Given the description of an element on the screen output the (x, y) to click on. 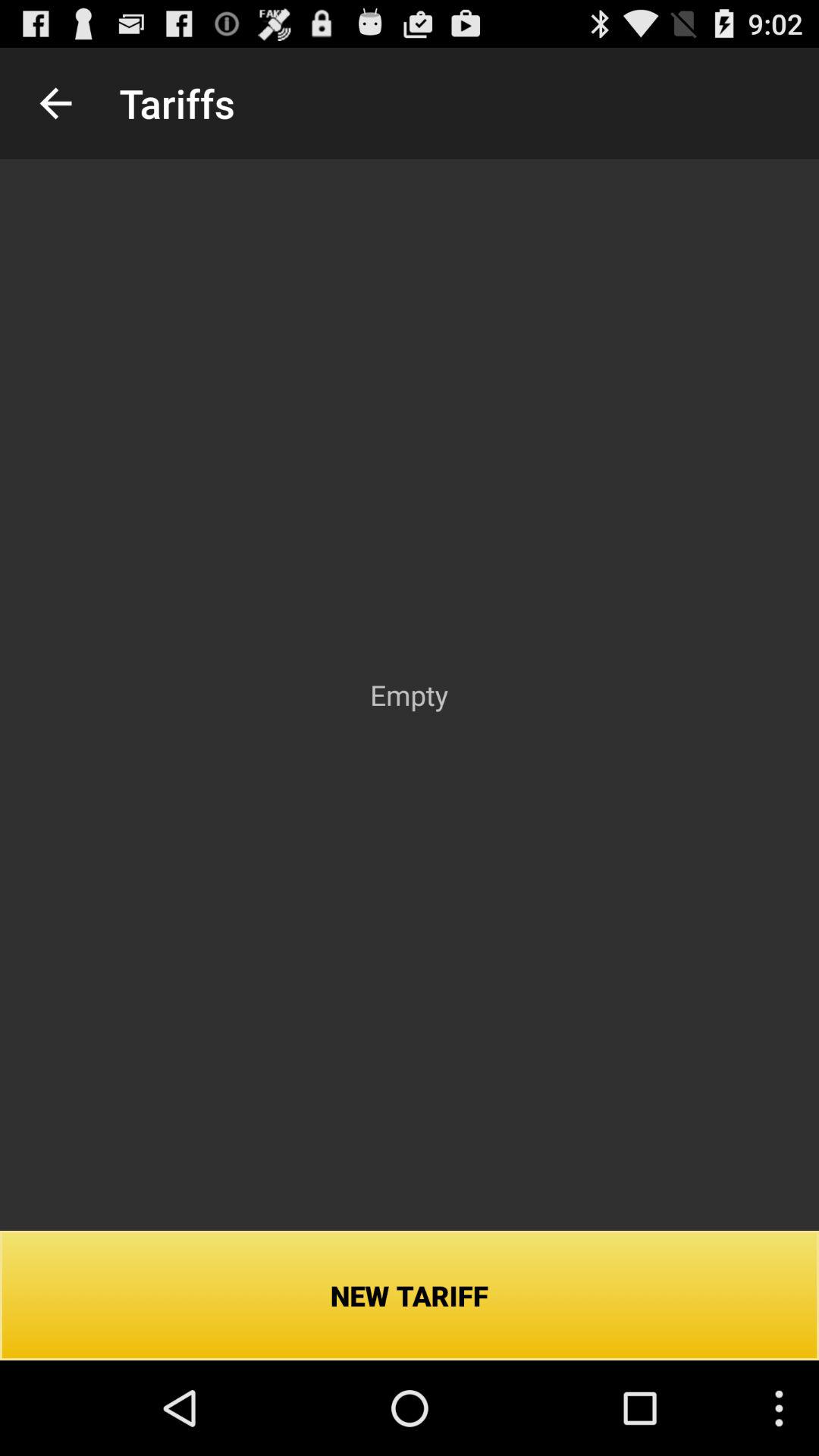
turn on the icon below the empty icon (409, 1295)
